Given the description of an element on the screen output the (x, y) to click on. 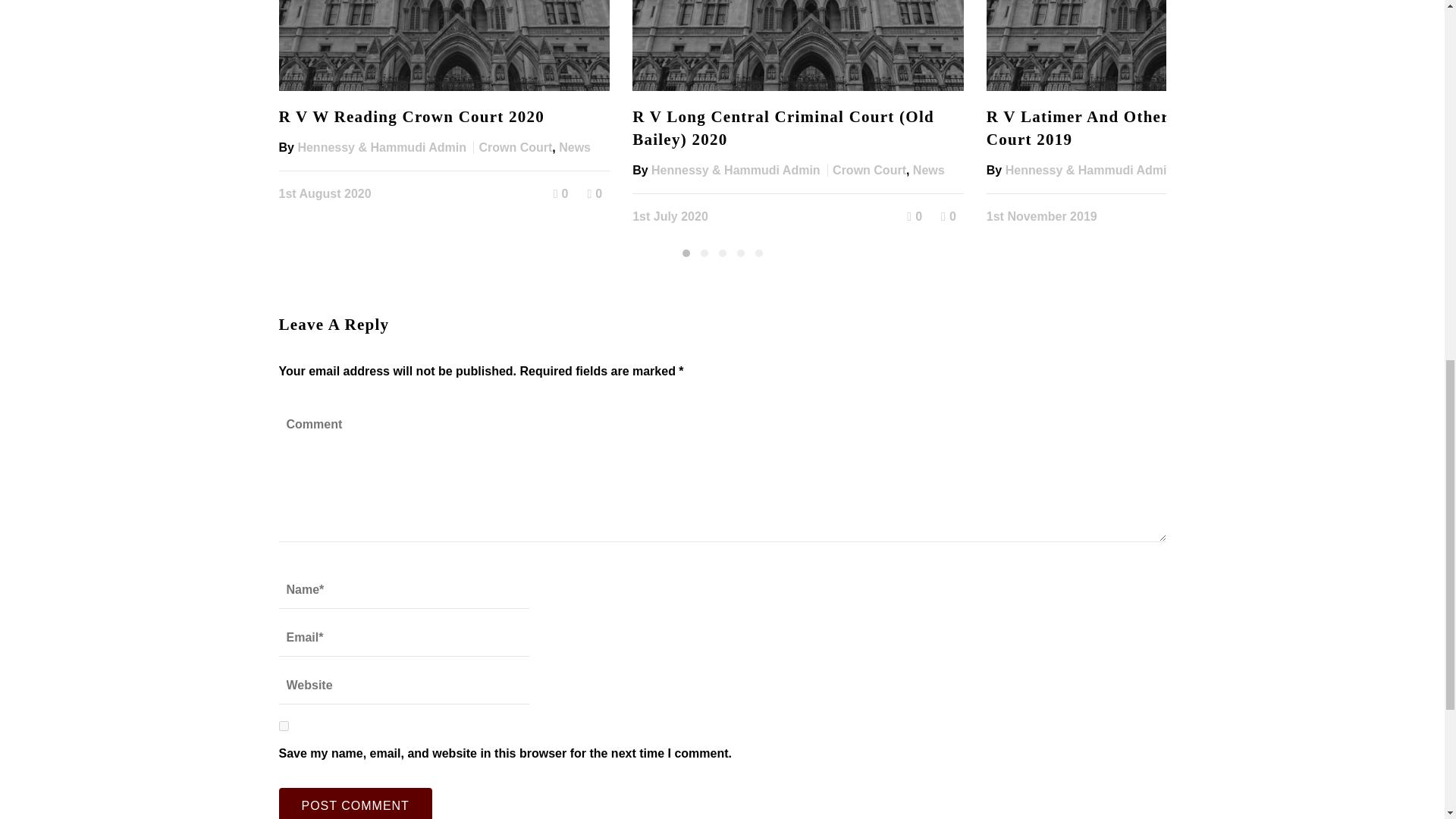
yes (283, 726)
Post Comment (355, 803)
R V W Reading Crown Court 2020 (411, 116)
Like this (561, 193)
Like this (914, 215)
